Given the description of an element on the screen output the (x, y) to click on. 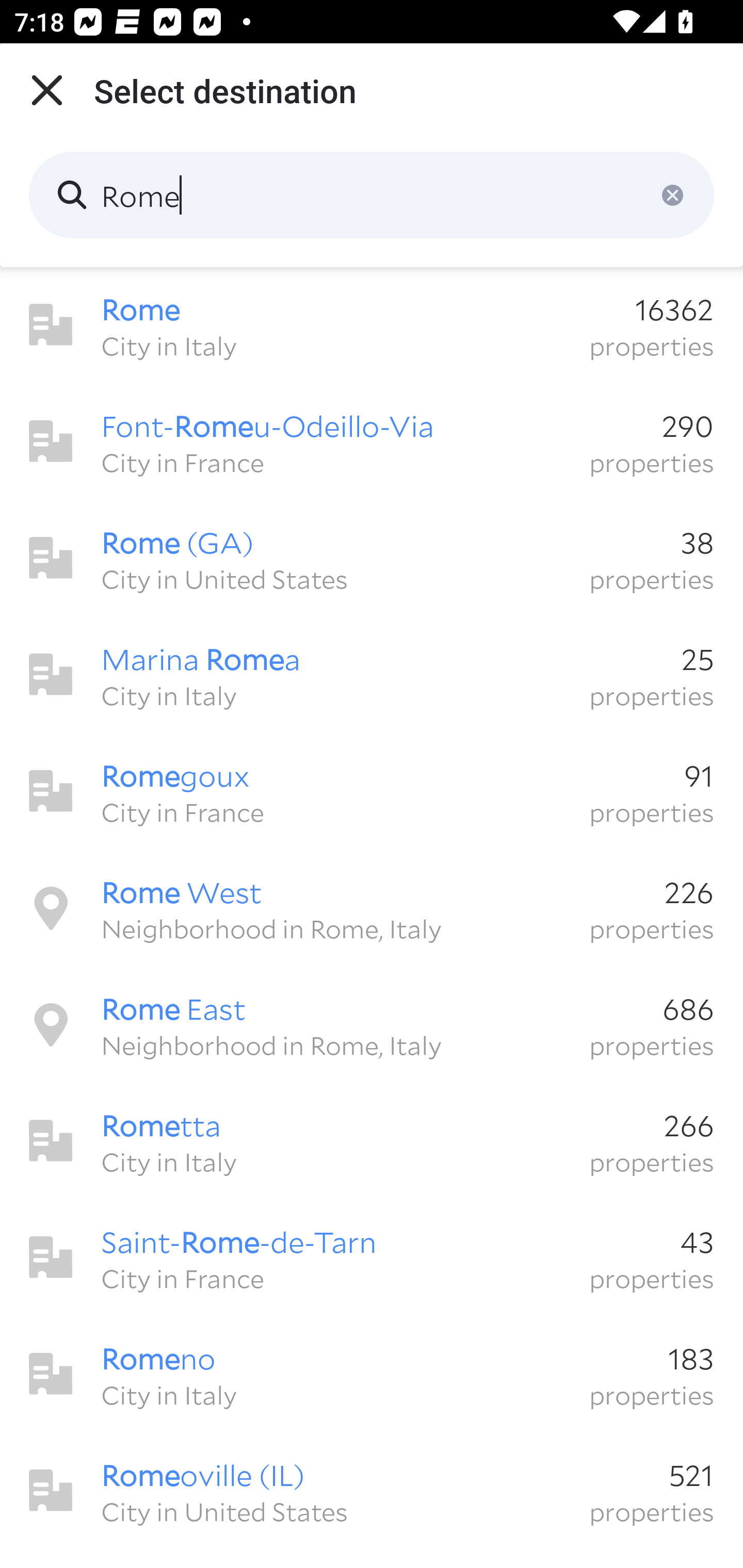
Rome (371, 195)
Rome 16362 City in Italy properties (371, 325)
Rome (GA) 38 City in United States properties (371, 558)
Marina Romea 25 City in Italy properties (371, 674)
Romegoux 91 City in France properties (371, 791)
Rometta 266 City in Italy properties (371, 1141)
Saint-Rome-de-Tarn 43 City in France properties (371, 1257)
Romeno 183 City in Italy properties (371, 1374)
